Given the description of an element on the screen output the (x, y) to click on. 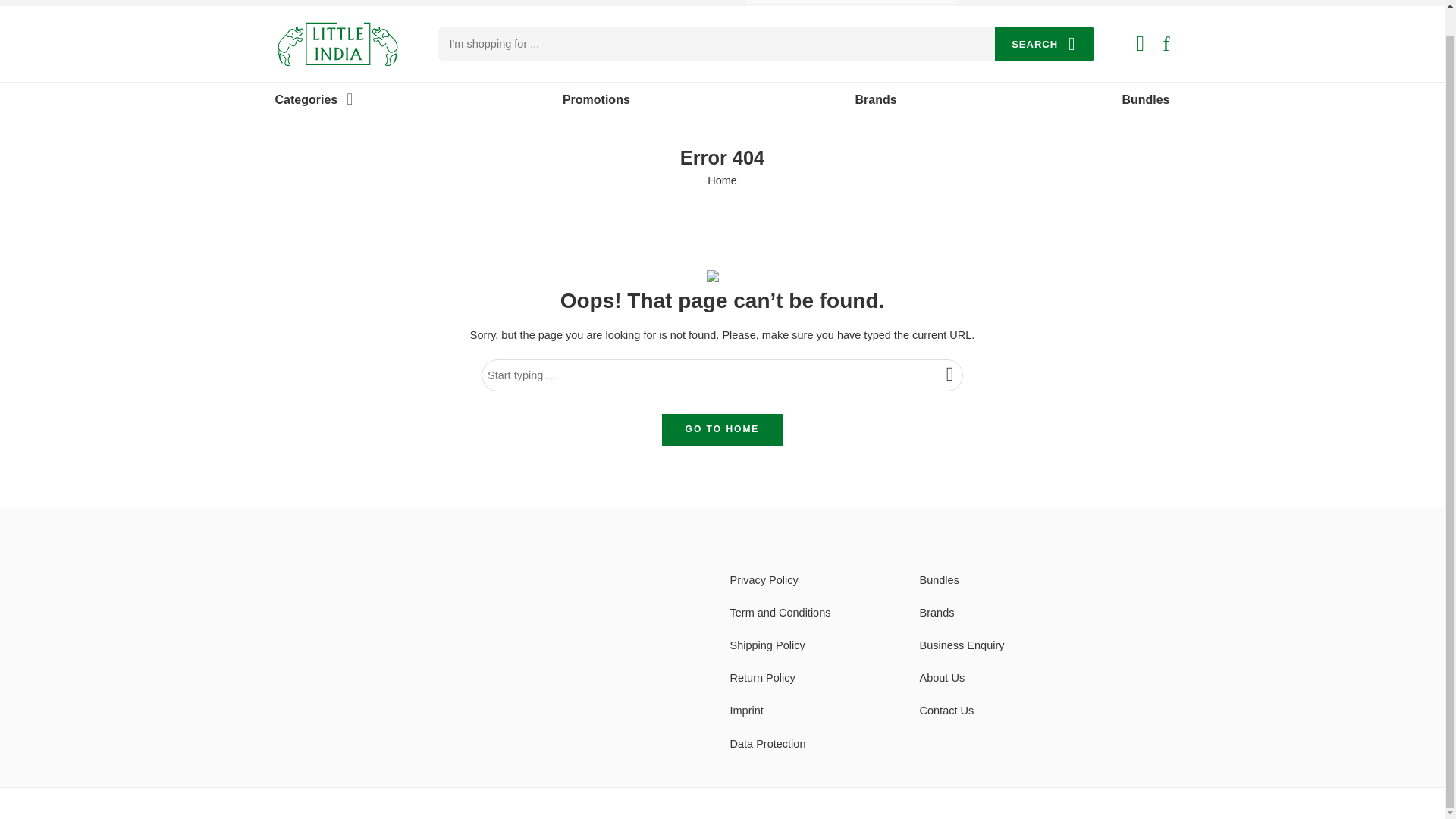
Categories (306, 99)
Checkout (1036, 0)
Categories (306, 99)
Cart (1140, 43)
SEARCH (1043, 43)
Checkout (1036, 0)
